Given the description of an element on the screen output the (x, y) to click on. 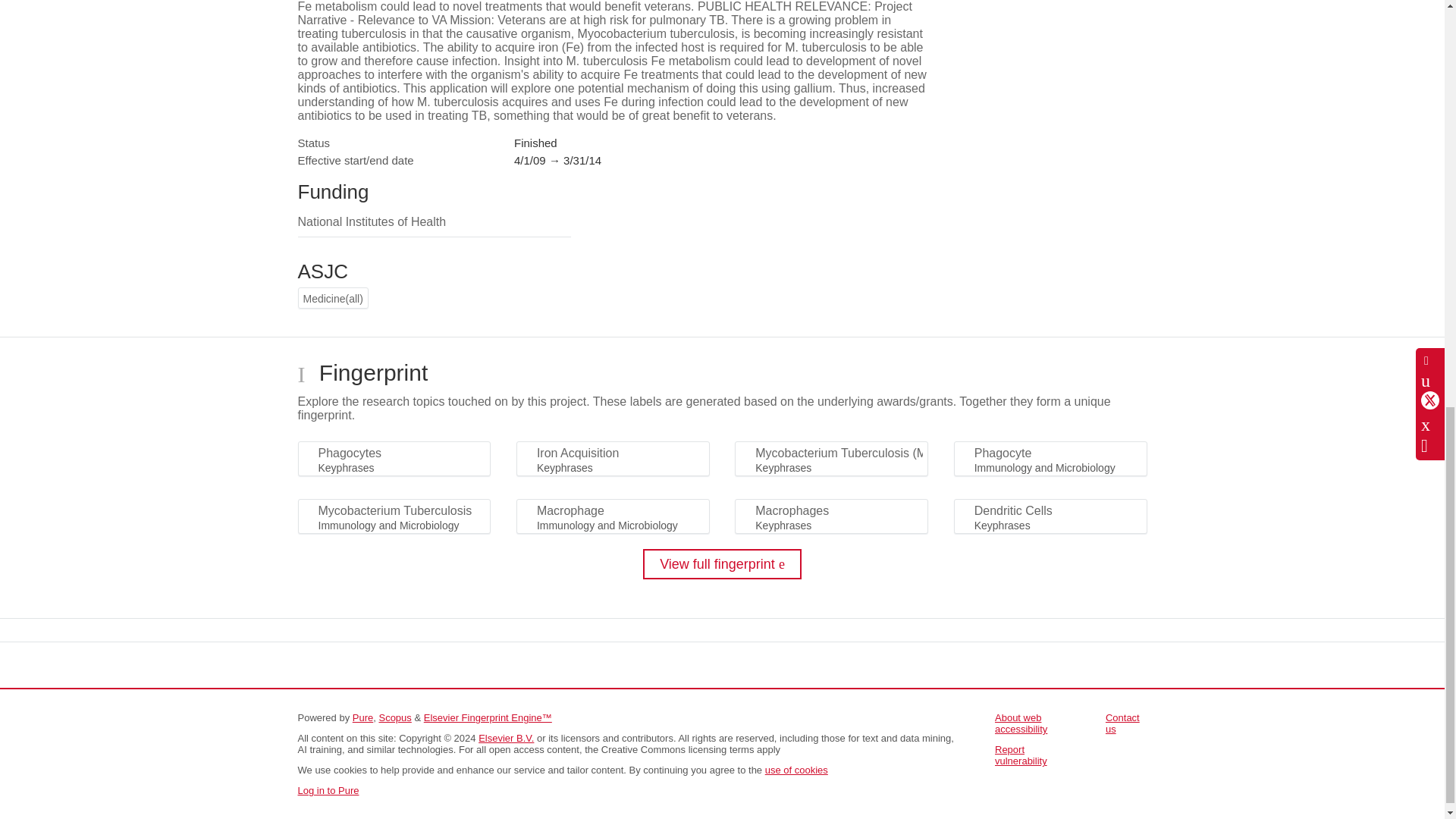
Log in to Pure (327, 790)
View full fingerprint (722, 563)
Elsevier B.V. (506, 737)
Pure (362, 717)
Scopus (394, 717)
use of cookies (796, 769)
